Given the description of an element on the screen output the (x, y) to click on. 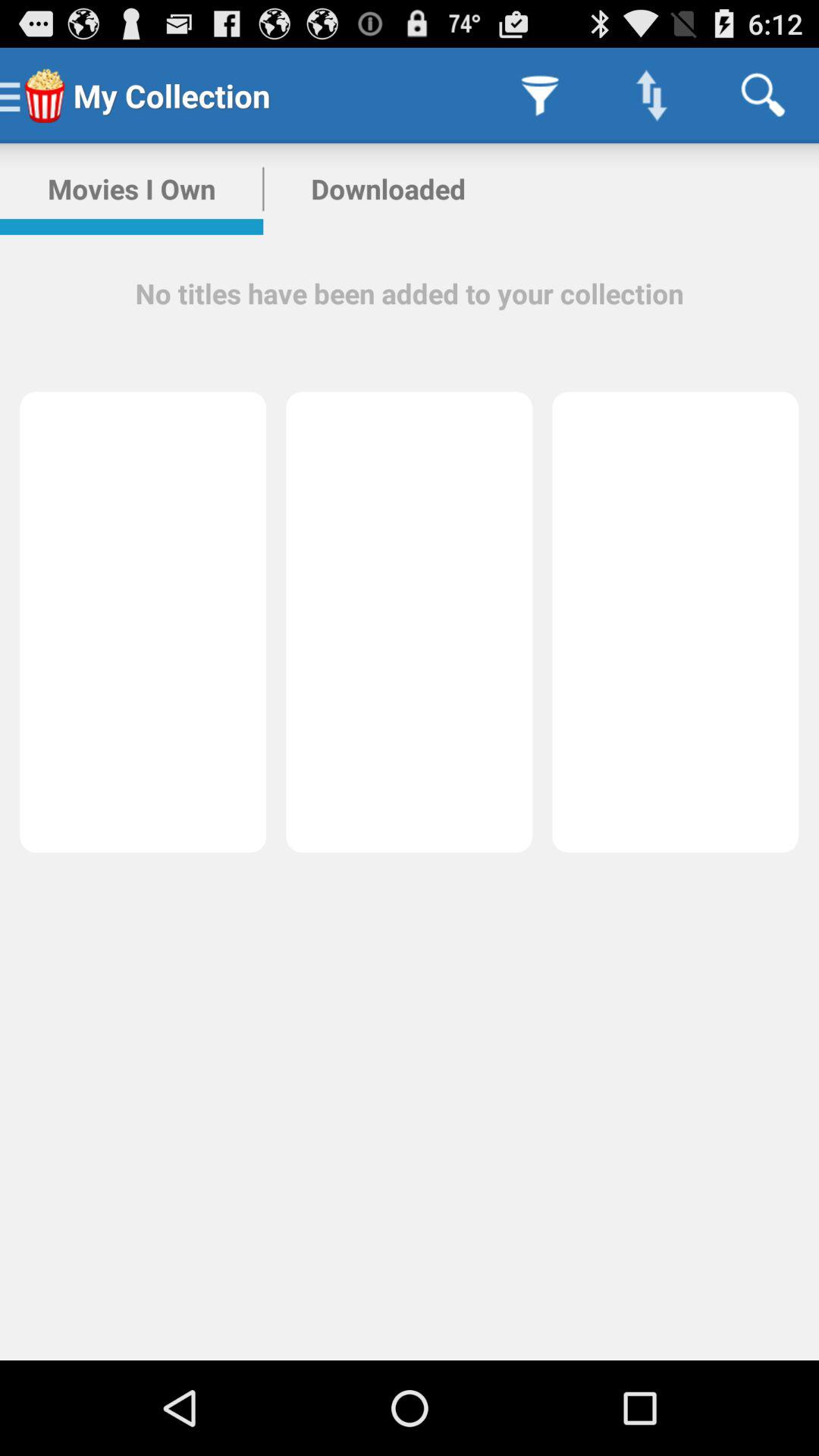
choose icon next to the downloaded (131, 188)
